Given the description of an element on the screen output the (x, y) to click on. 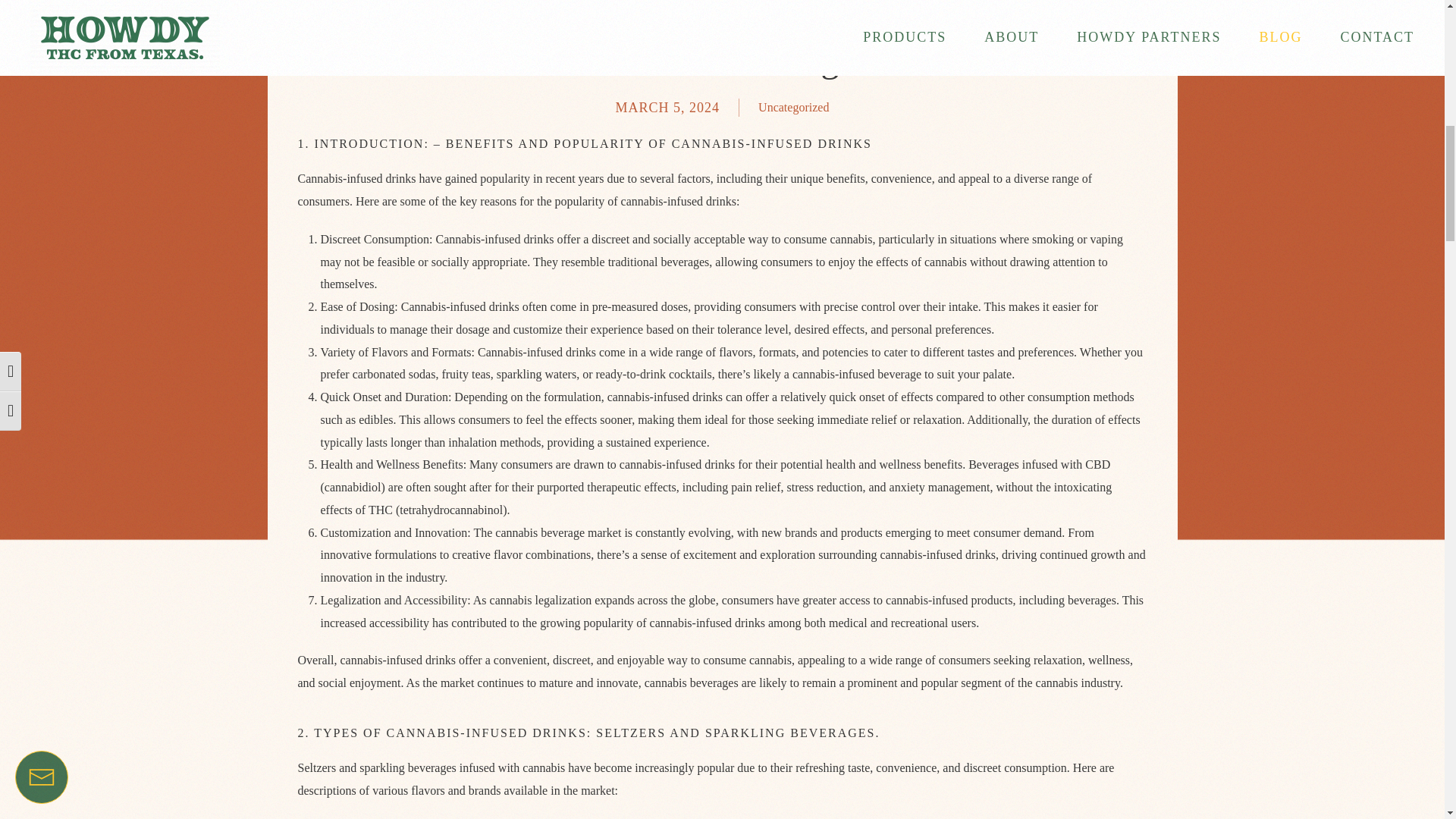
Uncategorized (793, 107)
MARCH 5, 2024 (667, 107)
